Given the description of an element on the screen output the (x, y) to click on. 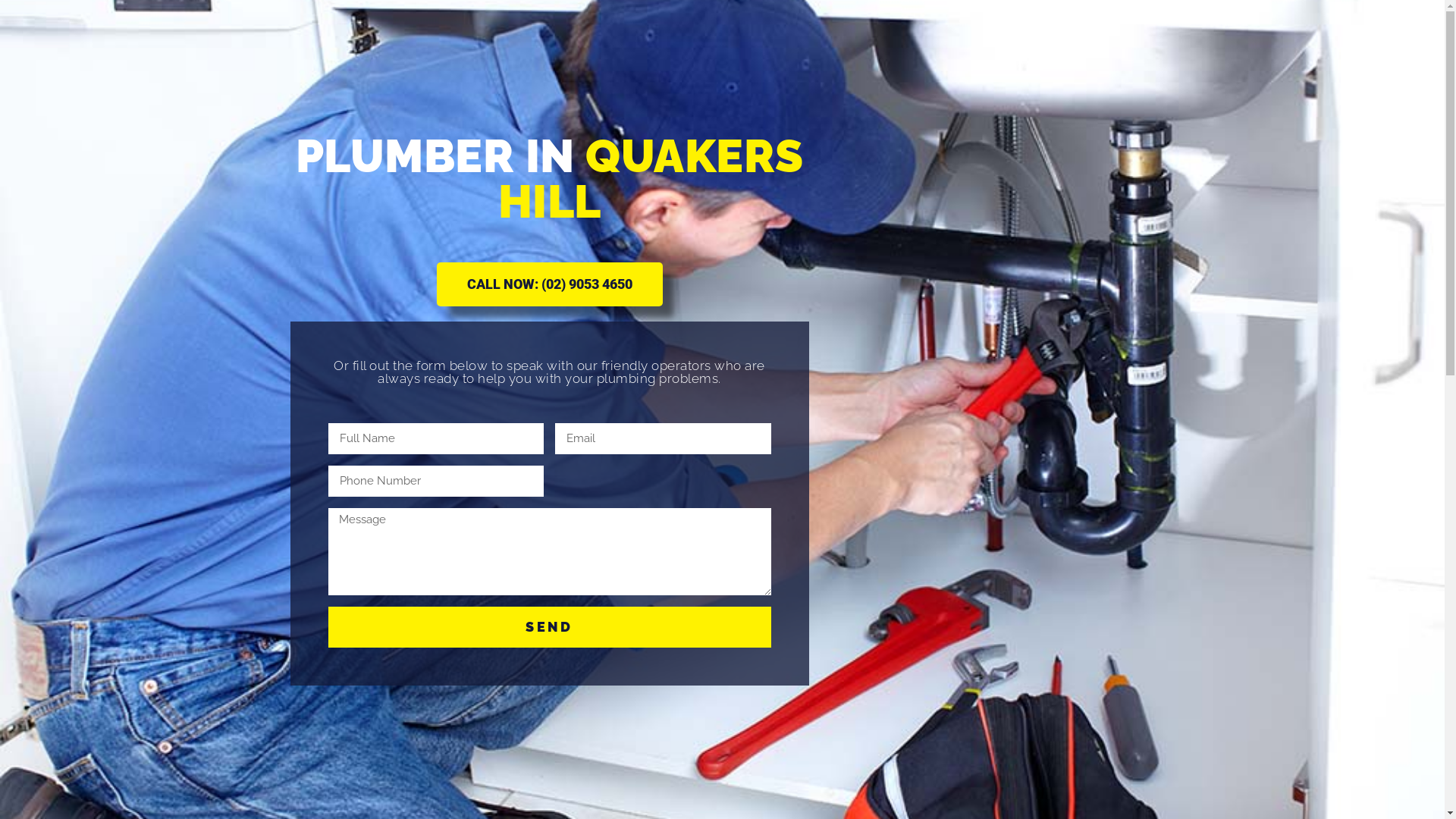
SEND Element type: text (548, 626)
CALL NOW: (02) 9053 4650 Element type: text (549, 284)
